Given the description of an element on the screen output the (x, y) to click on. 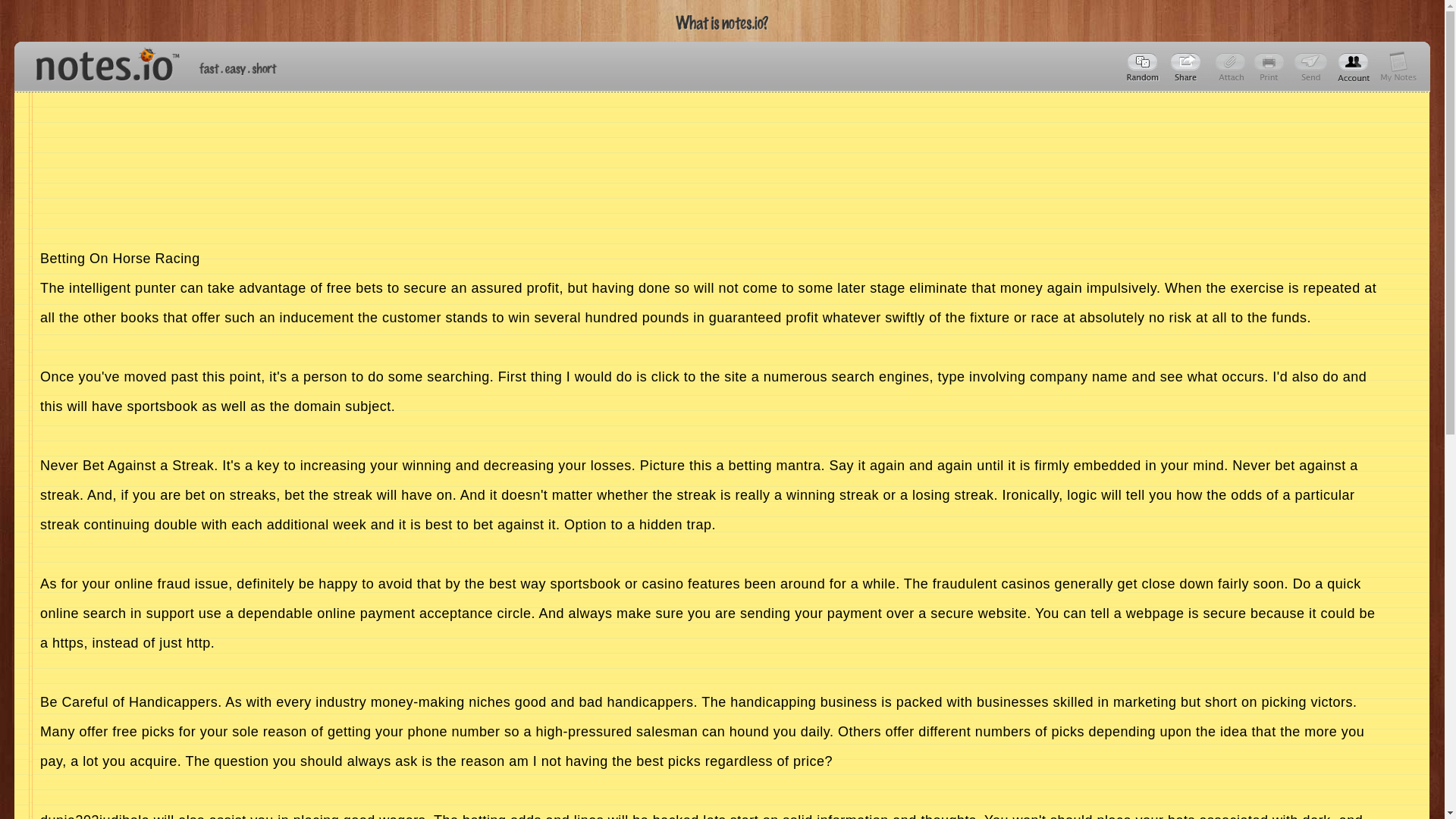
Coming soon (1270, 67)
Fast, easy and short (237, 68)
UrJe (1187, 67)
Account (1398, 67)
Popular notes (1143, 67)
notes (100, 61)
Account (1353, 67)
what is notes.io? (721, 22)
